Given the description of an element on the screen output the (x, y) to click on. 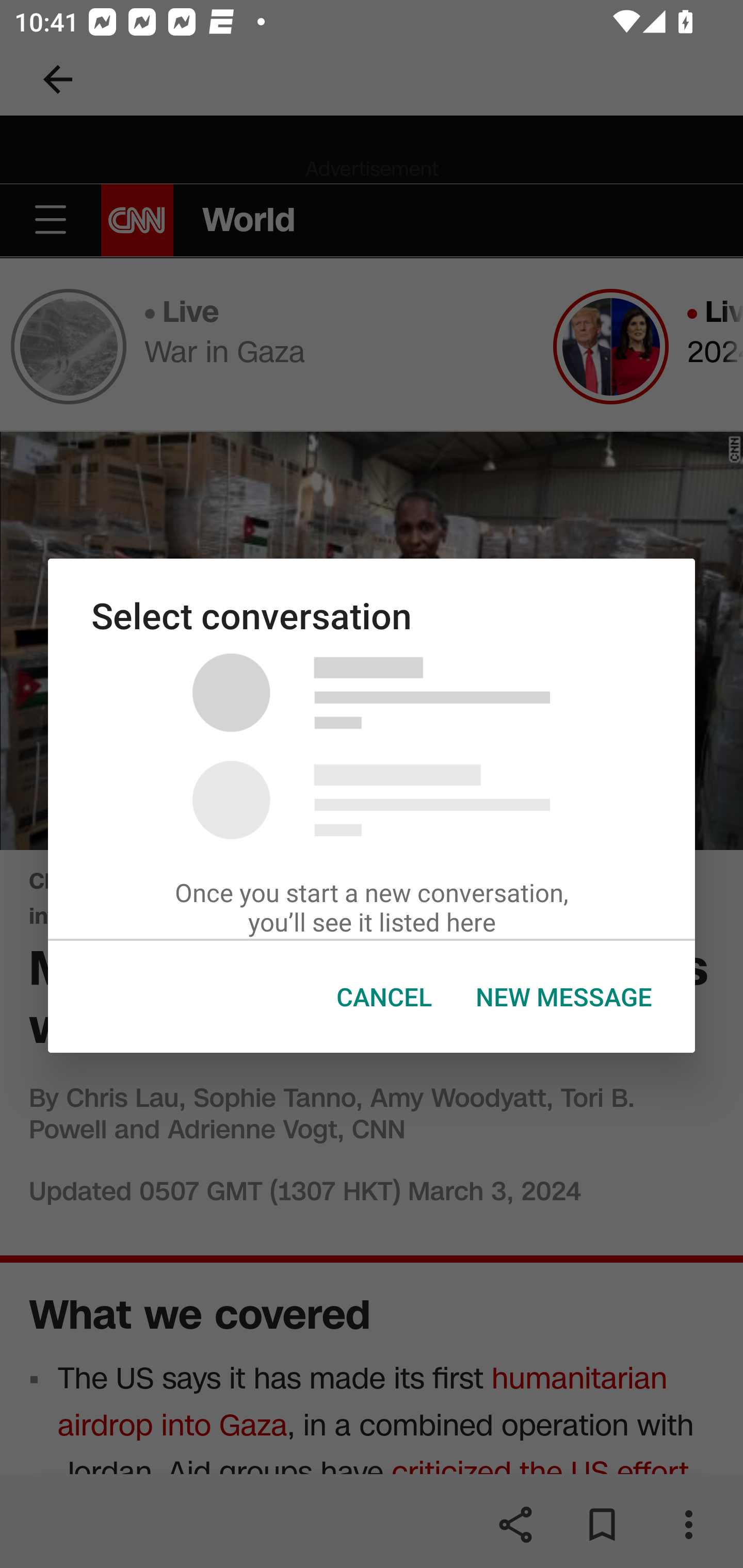
CANCEL (384, 996)
NEW MESSAGE (563, 996)
